Given the description of an element on the screen output the (x, y) to click on. 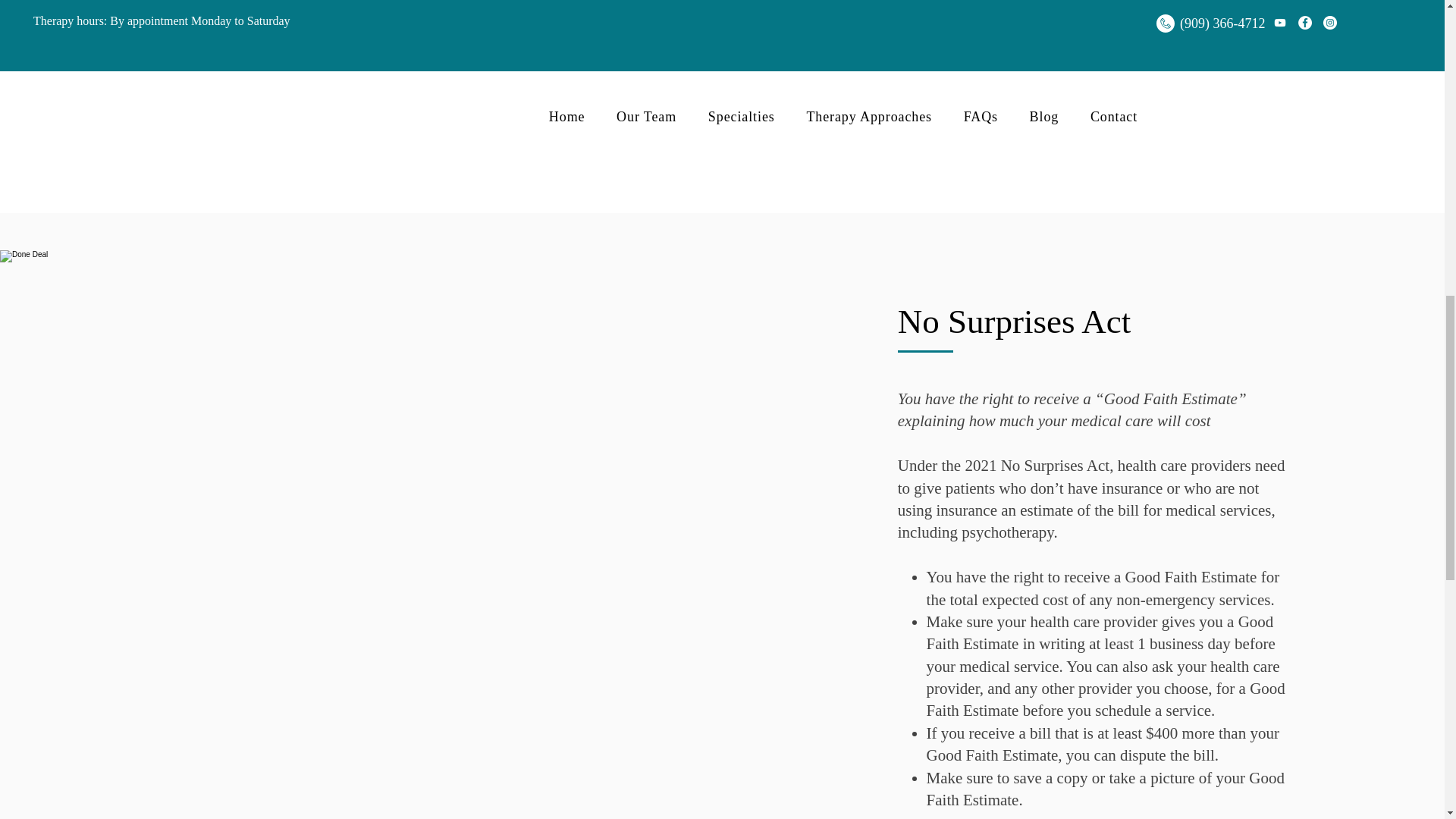
To view and read the complete document - click here to view (332, 164)
